Given the description of an element on the screen output the (x, y) to click on. 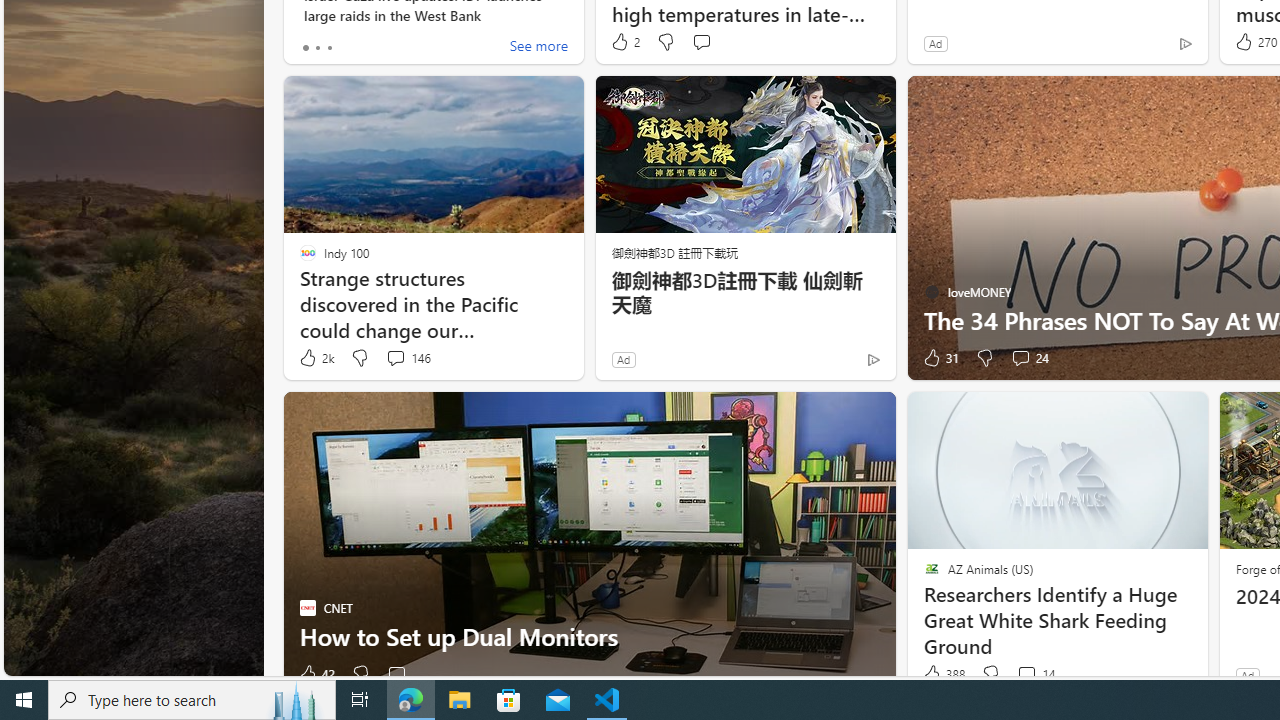
tab-1 (317, 47)
tab-2 (328, 47)
tab-0 (305, 47)
2 Like (624, 42)
388 Like (942, 674)
